Given the description of an element on the screen output the (x, y) to click on. 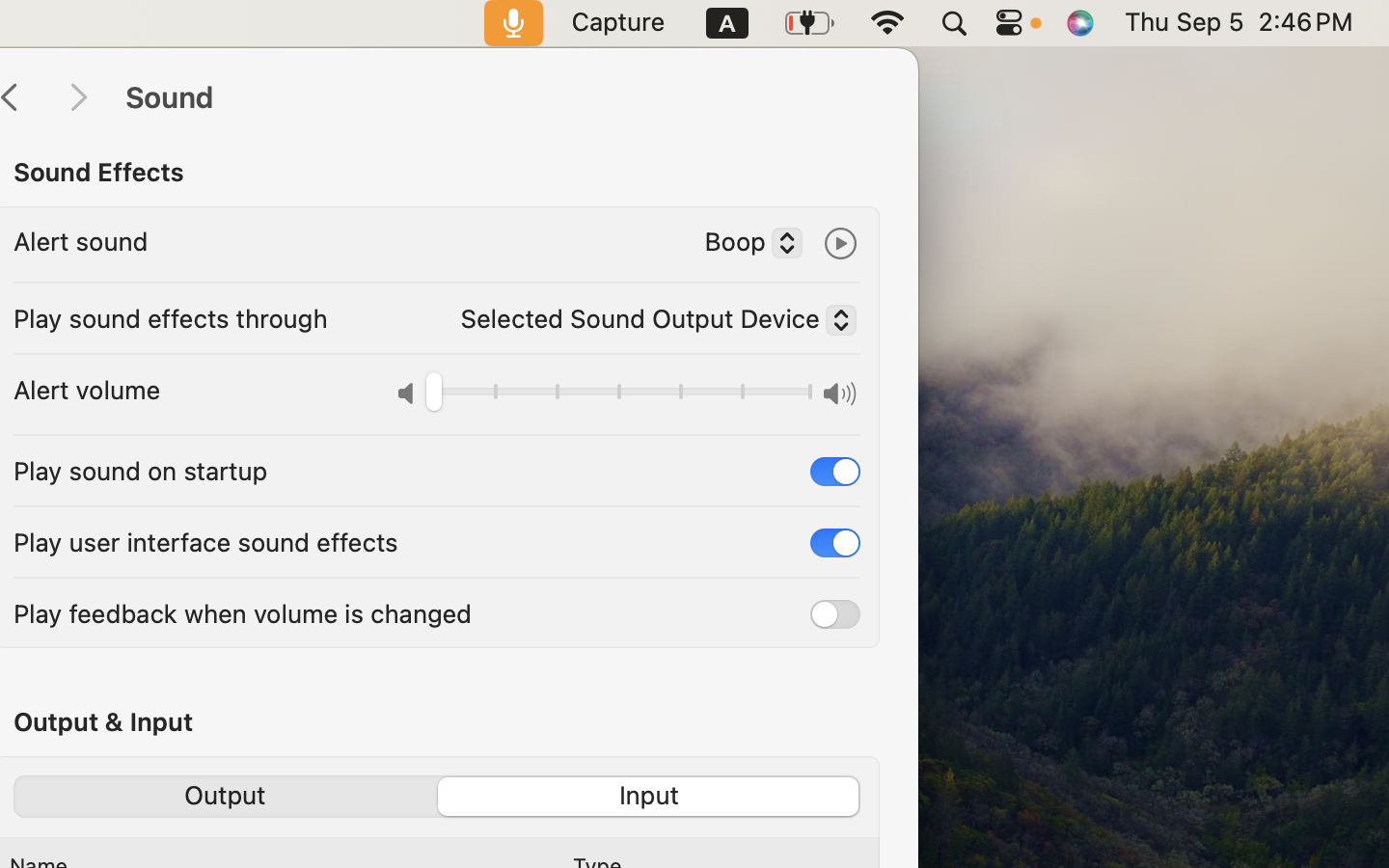
1 Element type: AXCheckBox (835, 471)
0.0 Element type: AXSlider (619, 395)
Sound Element type: AXStaticText (501, 98)
1 Element type: AXRadioButton (650, 796)
